Given the description of an element on the screen output the (x, y) to click on. 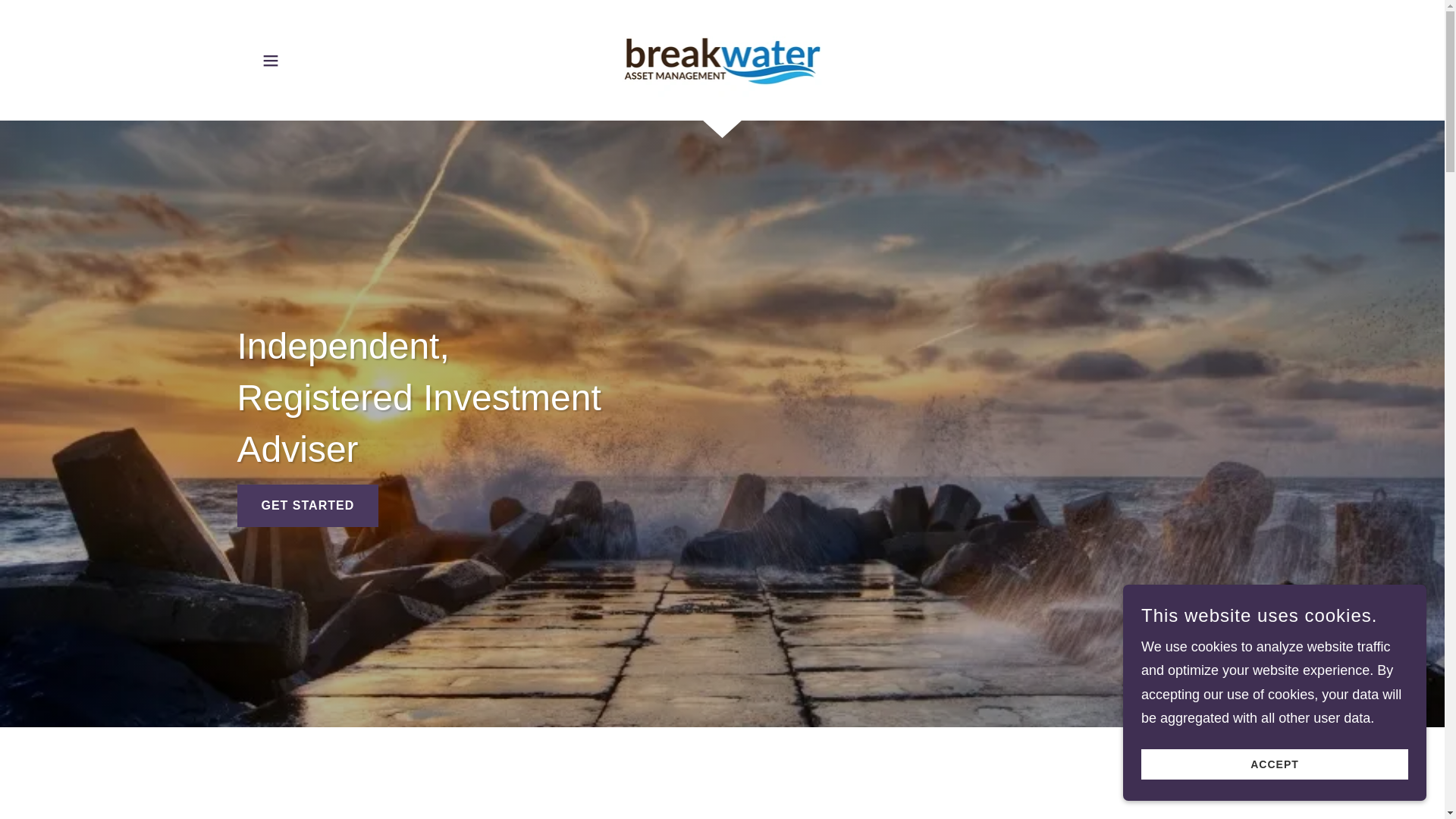
Breakwater Asset Management (722, 58)
GET STARTED (306, 505)
ACCEPT (1274, 764)
